Given the description of an element on the screen output the (x, y) to click on. 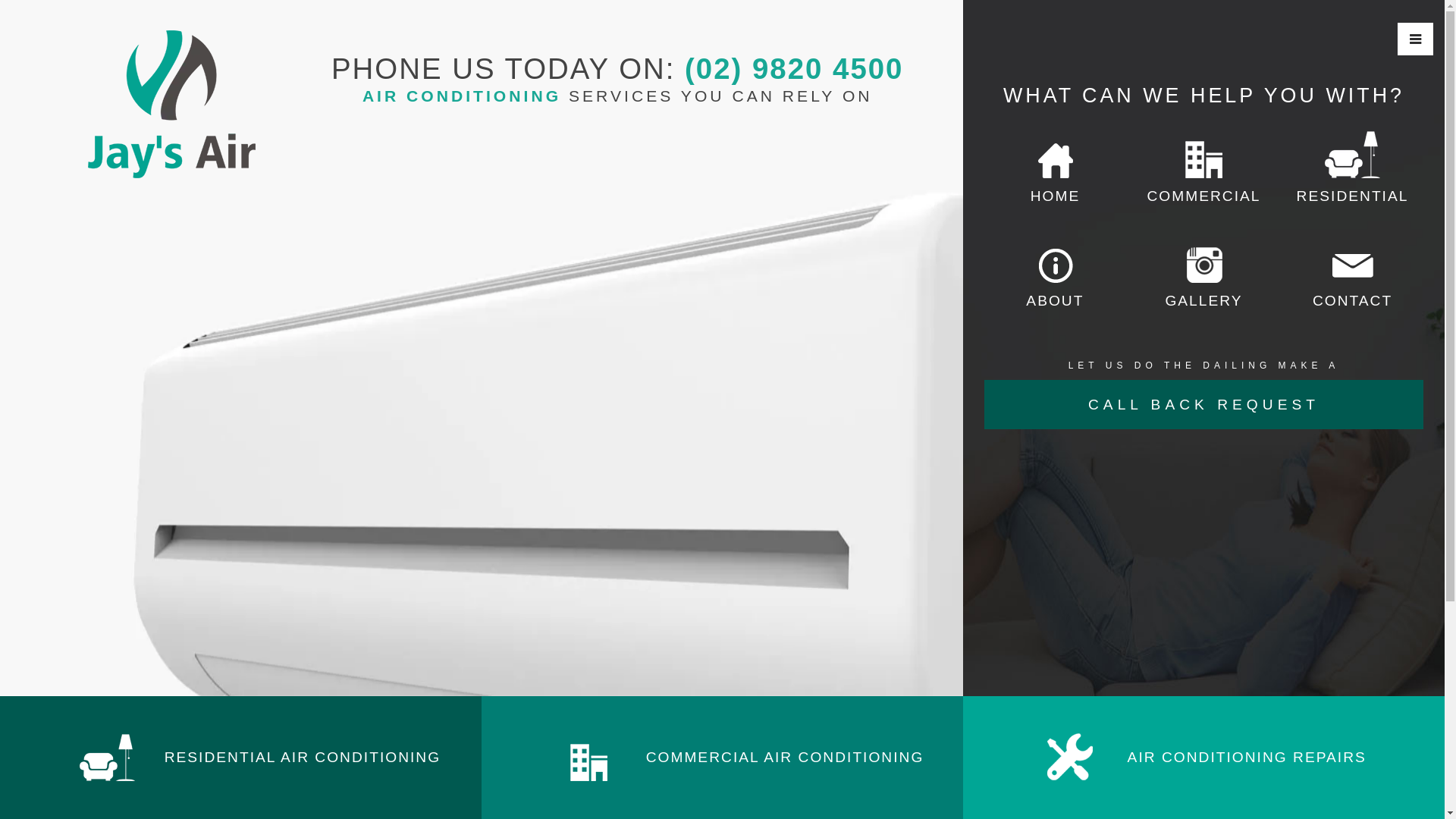
HOME Element type: text (1054, 169)
CALL BACK REQUEST Element type: text (1203, 404)
RESIDENTIAL Element type: text (1351, 169)
GALLERY Element type: text (1203, 273)
COMMERCIAL Element type: text (1203, 169)
AIR CONDITIONING REPAIRS Element type: text (1203, 756)
COMMERCIAL AIR CONDITIONING Element type: text (721, 756)
ABOUT Element type: text (1054, 273)
RESIDENTIAL AIR CONDITIONING Element type: text (240, 756)
CONTACT Element type: text (1351, 273)
